Given the description of an element on the screen output the (x, y) to click on. 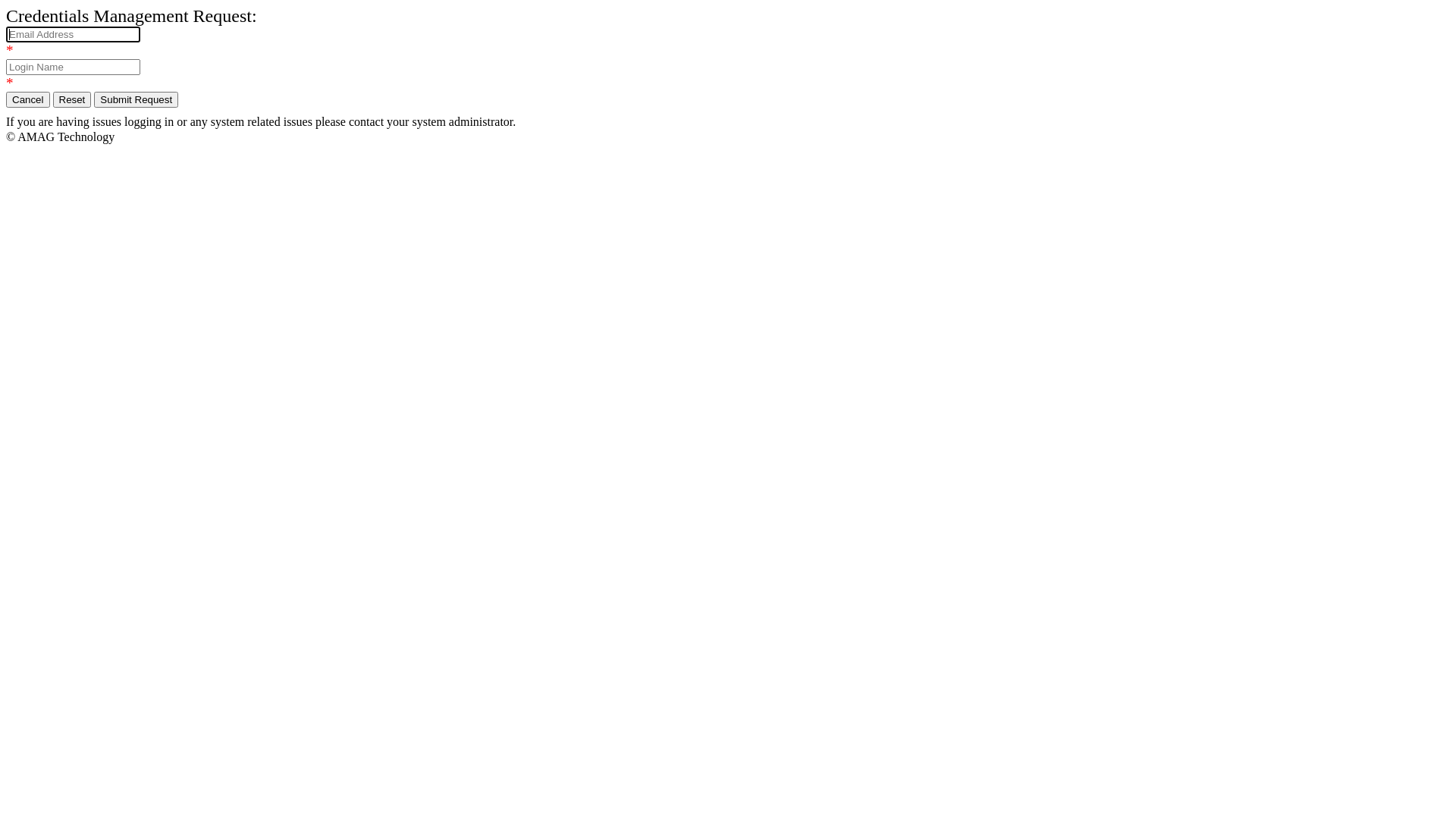
Submit Request Element type: text (136, 99)
Cancel Element type: text (28, 99)
